Given the description of an element on the screen output the (x, y) to click on. 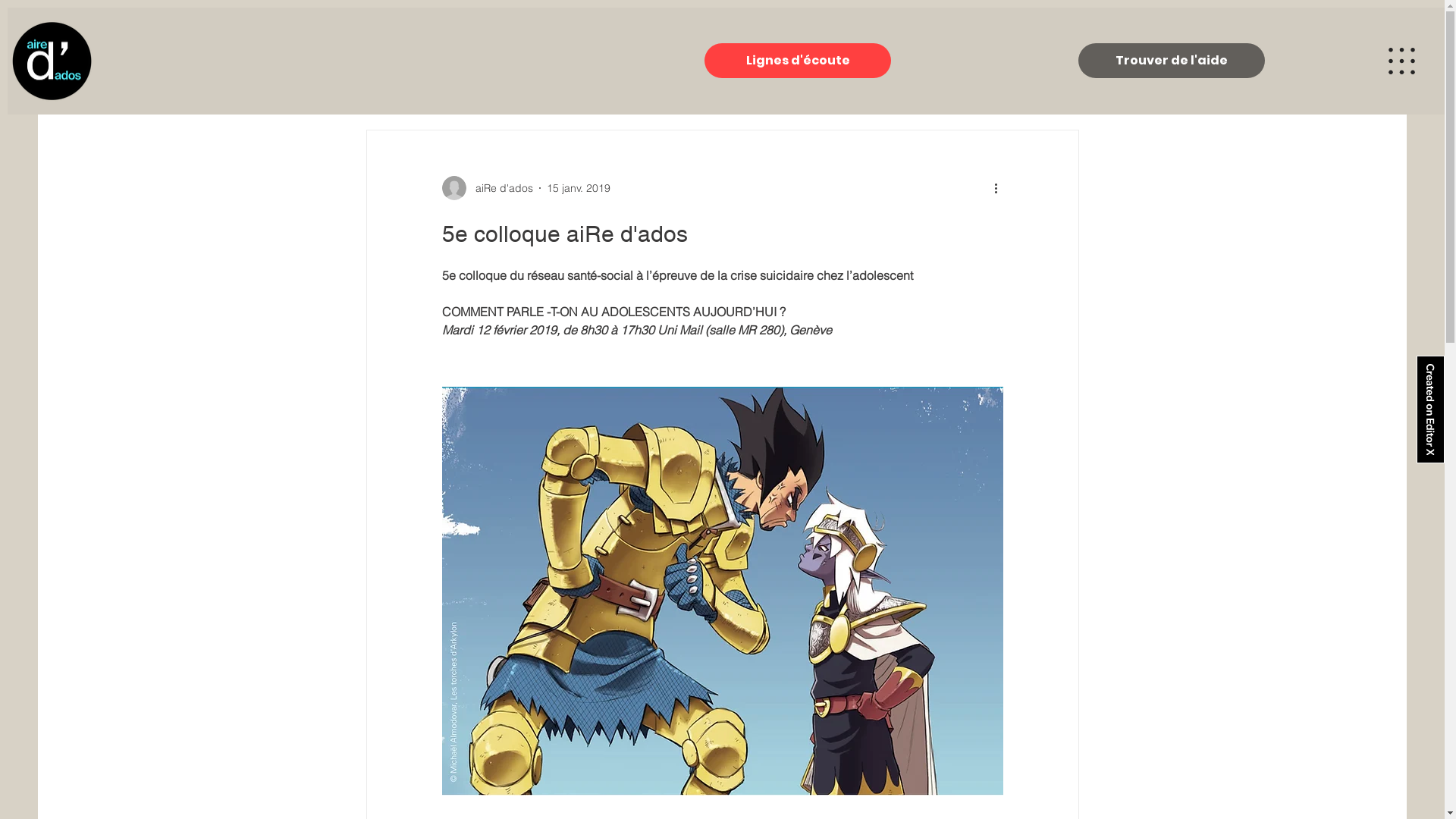
Trouver de l'aide Element type: text (1171, 60)
